Given the description of an element on the screen output the (x, y) to click on. 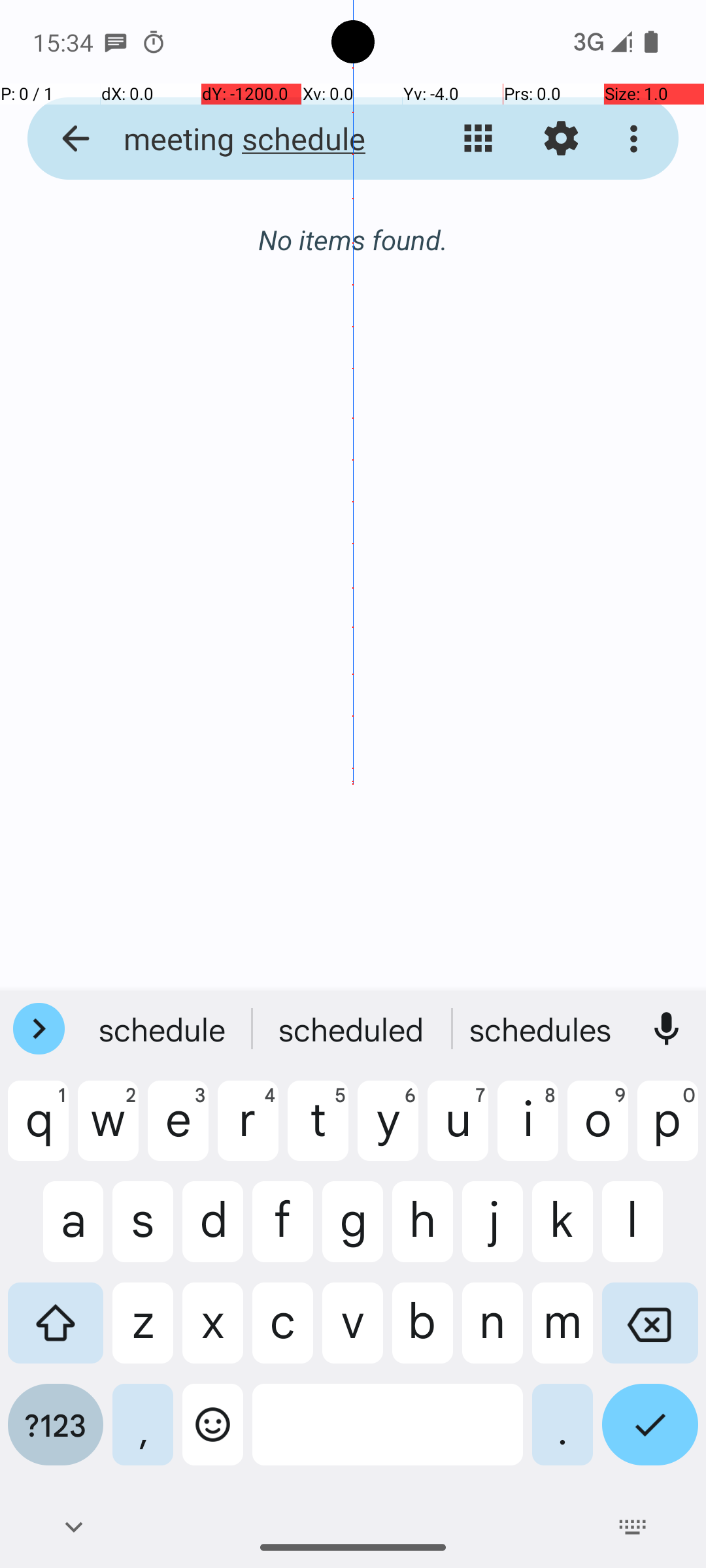
meeting schedule Element type: android.widget.EditText (252, 138)
schedule Element type: android.widget.FrameLayout (163, 1028)
scheduled Element type: android.widget.FrameLayout (541, 1028)
